Given the description of an element on the screen output the (x, y) to click on. 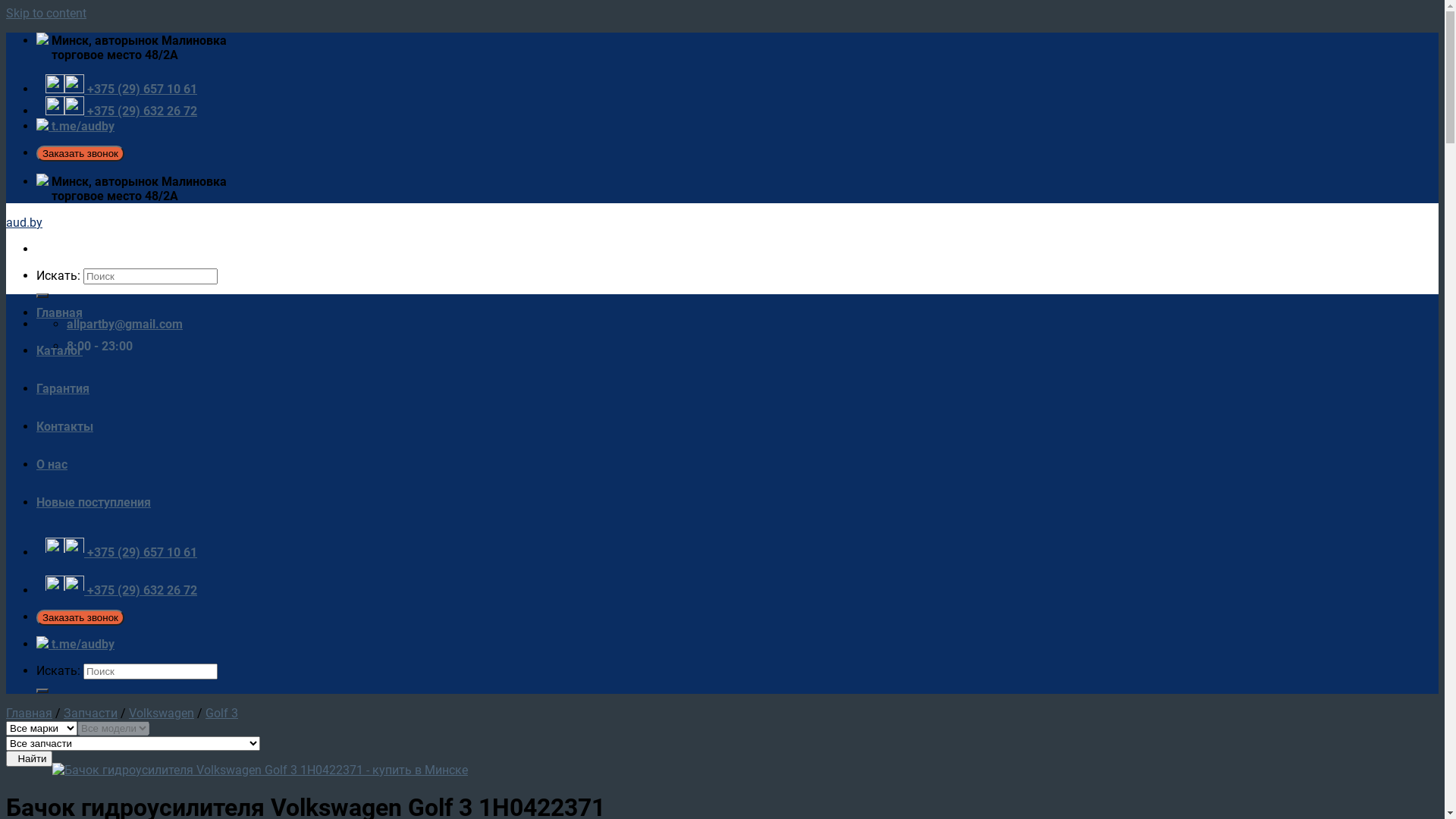
 t.me/audby Element type: text (75, 644)
 +375 (29) 657 10 61 Element type: text (121, 88)
Volkswagen Element type: text (161, 713)
 +375 (29) 632 26 72 Element type: text (121, 110)
aud.by Element type: text (24, 222)
Golf 3 Element type: text (221, 713)
 +375 (29) 657 10 61 Element type: text (121, 552)
8:00 - 23:00 Element type: text (99, 345)
allpartby@gmail.com Element type: text (124, 323)
 t.me/audby Element type: text (75, 126)
 +375 (29) 632 26 72 Element type: text (121, 590)
Skip to content Element type: text (46, 13)
